Given the description of an element on the screen output the (x, y) to click on. 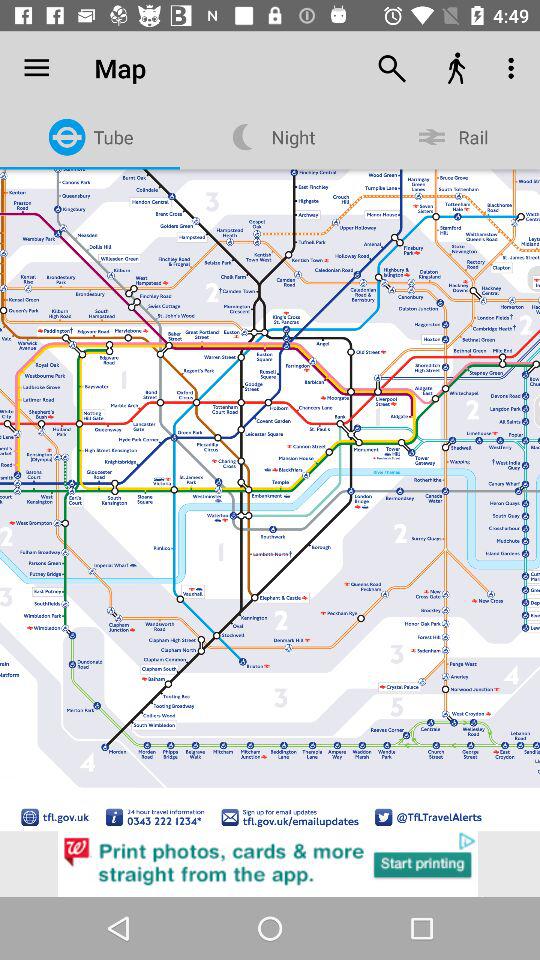
go to menu (26, 89)
